Given the description of an element on the screen output the (x, y) to click on. 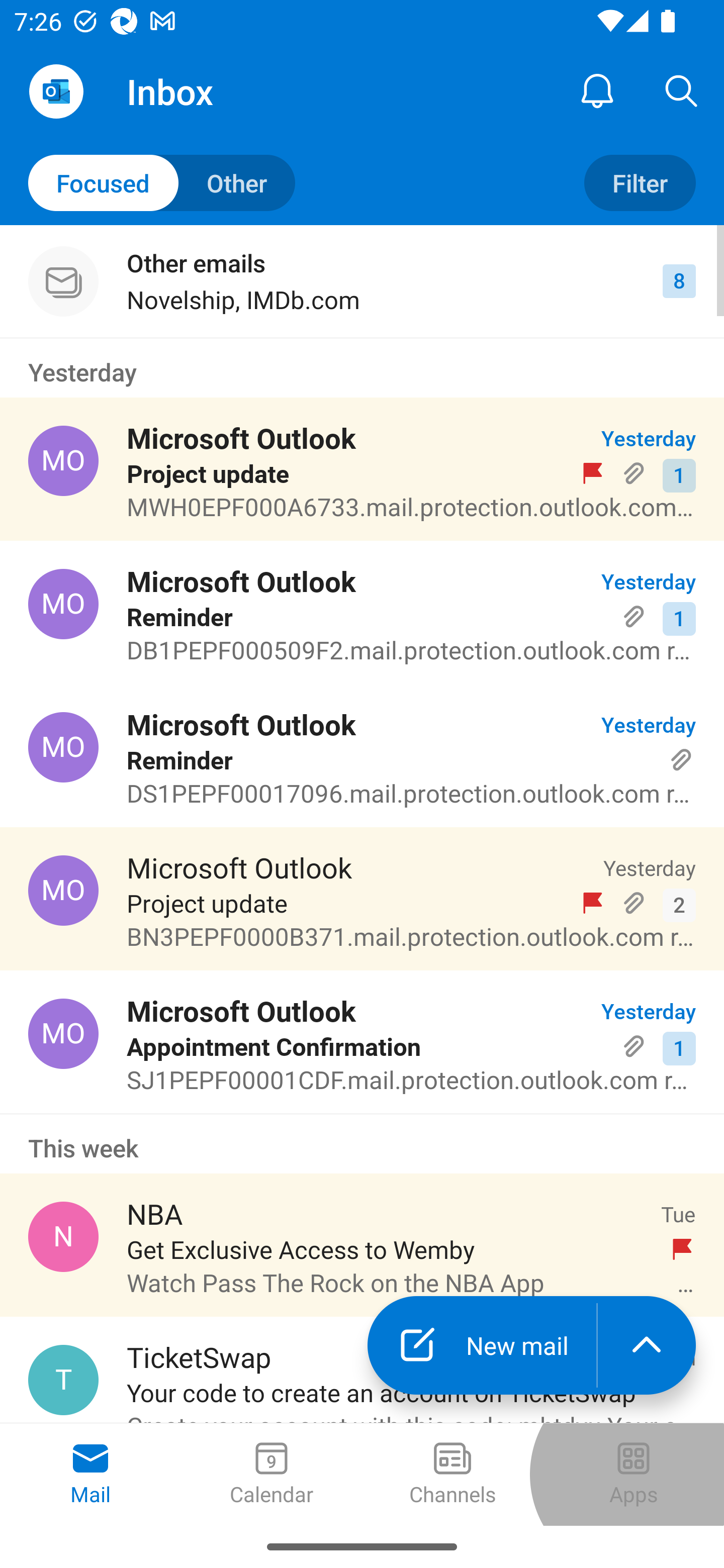
Notification Center (597, 90)
Search, ,  (681, 90)
Open Navigation Drawer (55, 91)
Toggle to other mails (161, 183)
Filter (639, 183)
Other emails Novelship, IMDb.com 8 (362, 281)
NBA, NBA@email.nba.com (63, 1236)
New mail (481, 1344)
launch the extended action menu (646, 1344)
TicketSwap, info@ticketswap.com (63, 1380)
Calendar (271, 1474)
Channels (452, 1474)
Apps (633, 1474)
